Given the description of an element on the screen output the (x, y) to click on. 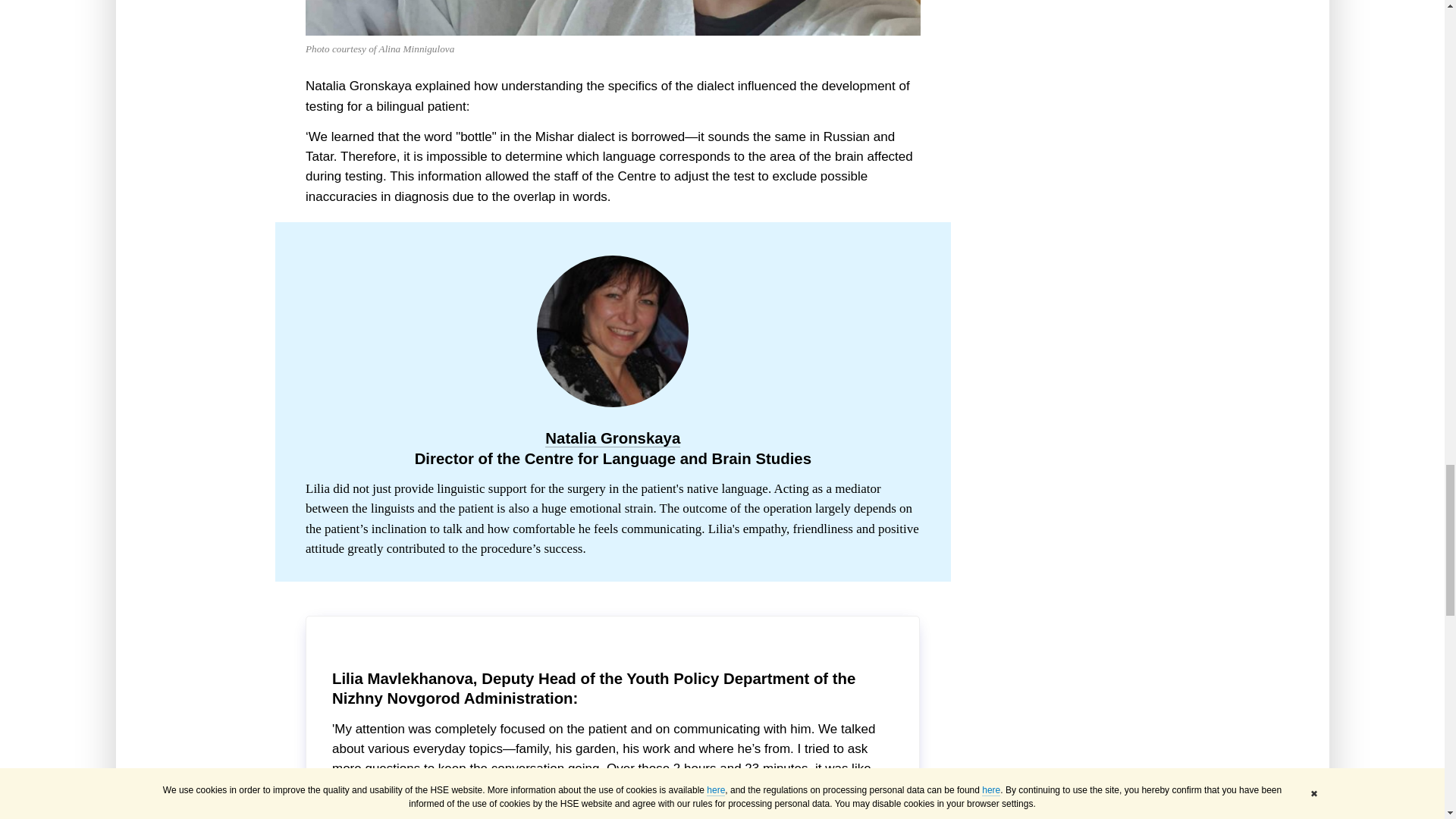
Natalia Gronskaya (611, 438)
